Given the description of an element on the screen output the (x, y) to click on. 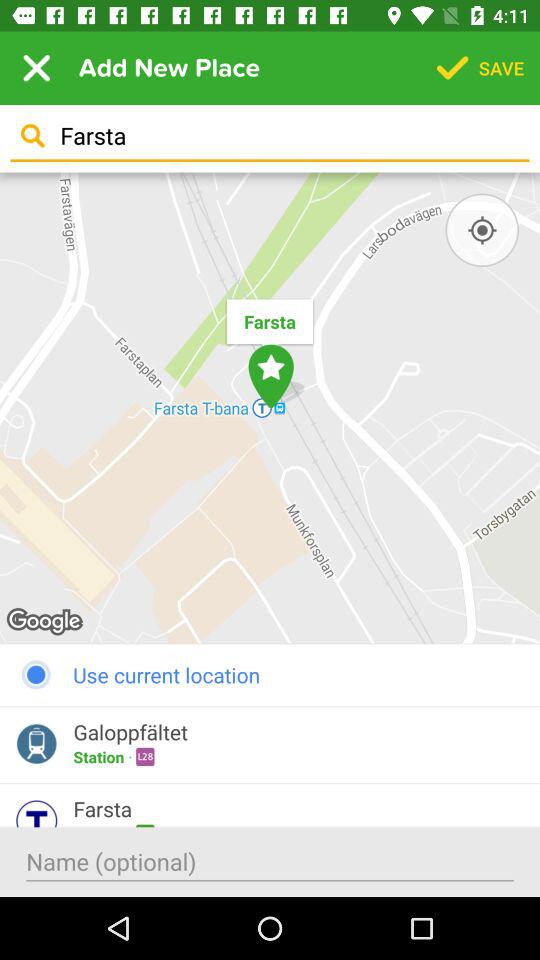
turn on item below farsta (482, 229)
